Given the description of an element on the screen output the (x, y) to click on. 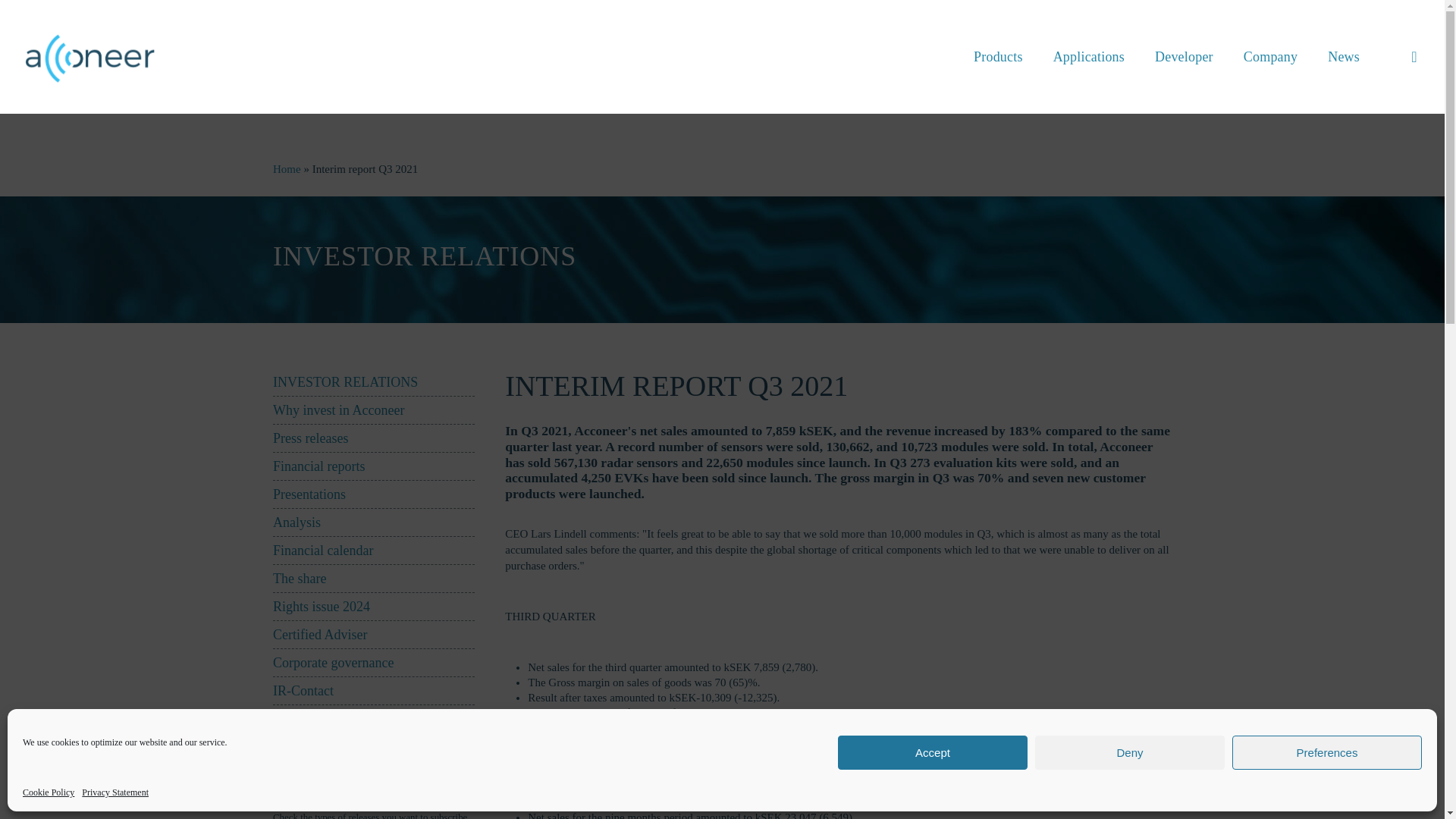
Accept (932, 752)
Developer (1184, 56)
Applications (1089, 56)
Preferences (1326, 752)
search (1414, 56)
Privacy Statement (114, 792)
Deny (1129, 752)
Company (1270, 56)
Products (998, 56)
News (1343, 56)
Cookie Policy (48, 792)
